Given the description of an element on the screen output the (x, y) to click on. 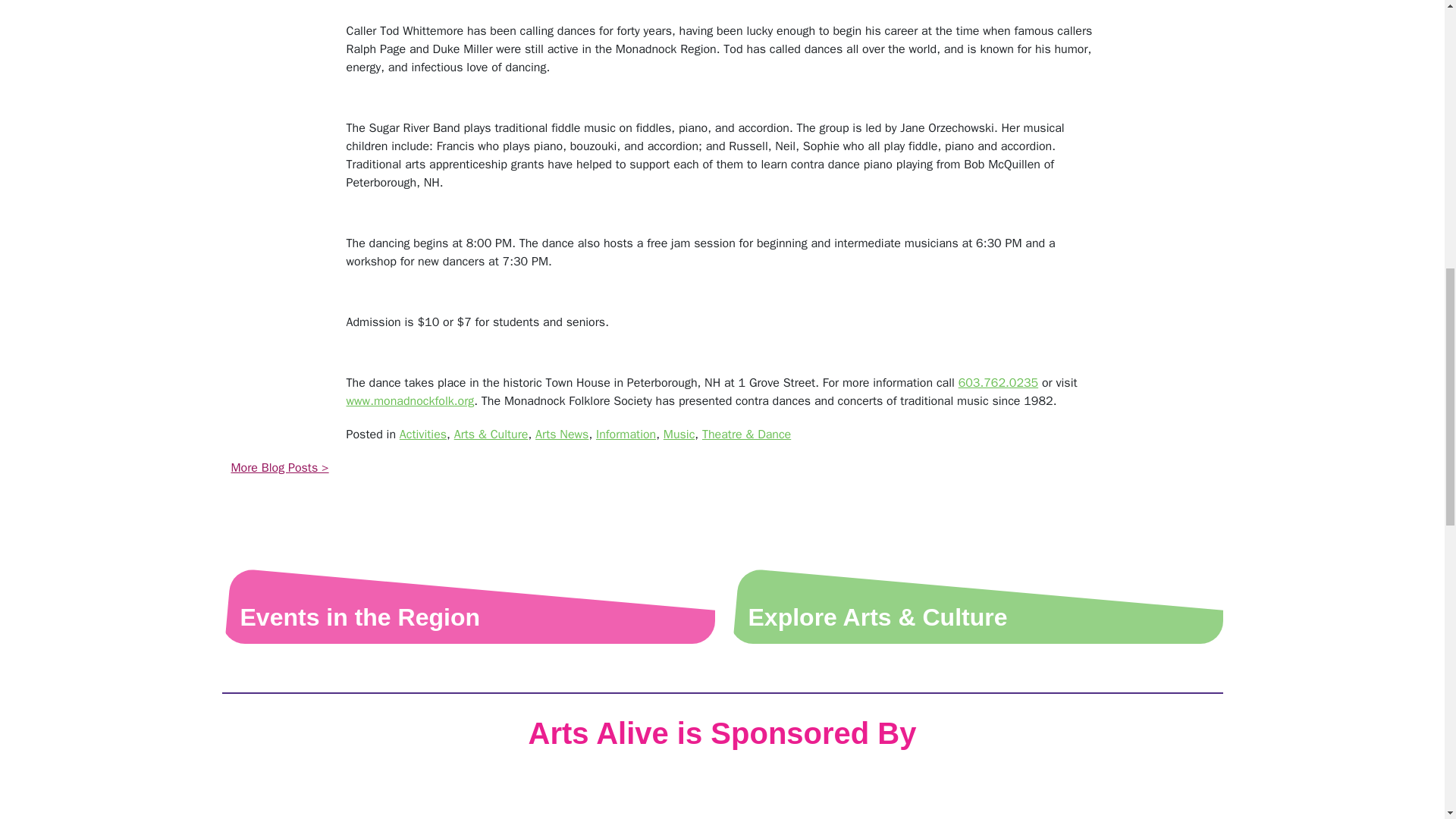
Music (679, 434)
www.monadnockfolk.org (410, 400)
Activities (422, 434)
603.762.0235 (998, 382)
Information (625, 434)
Arts News (561, 434)
